Given the description of an element on the screen output the (x, y) to click on. 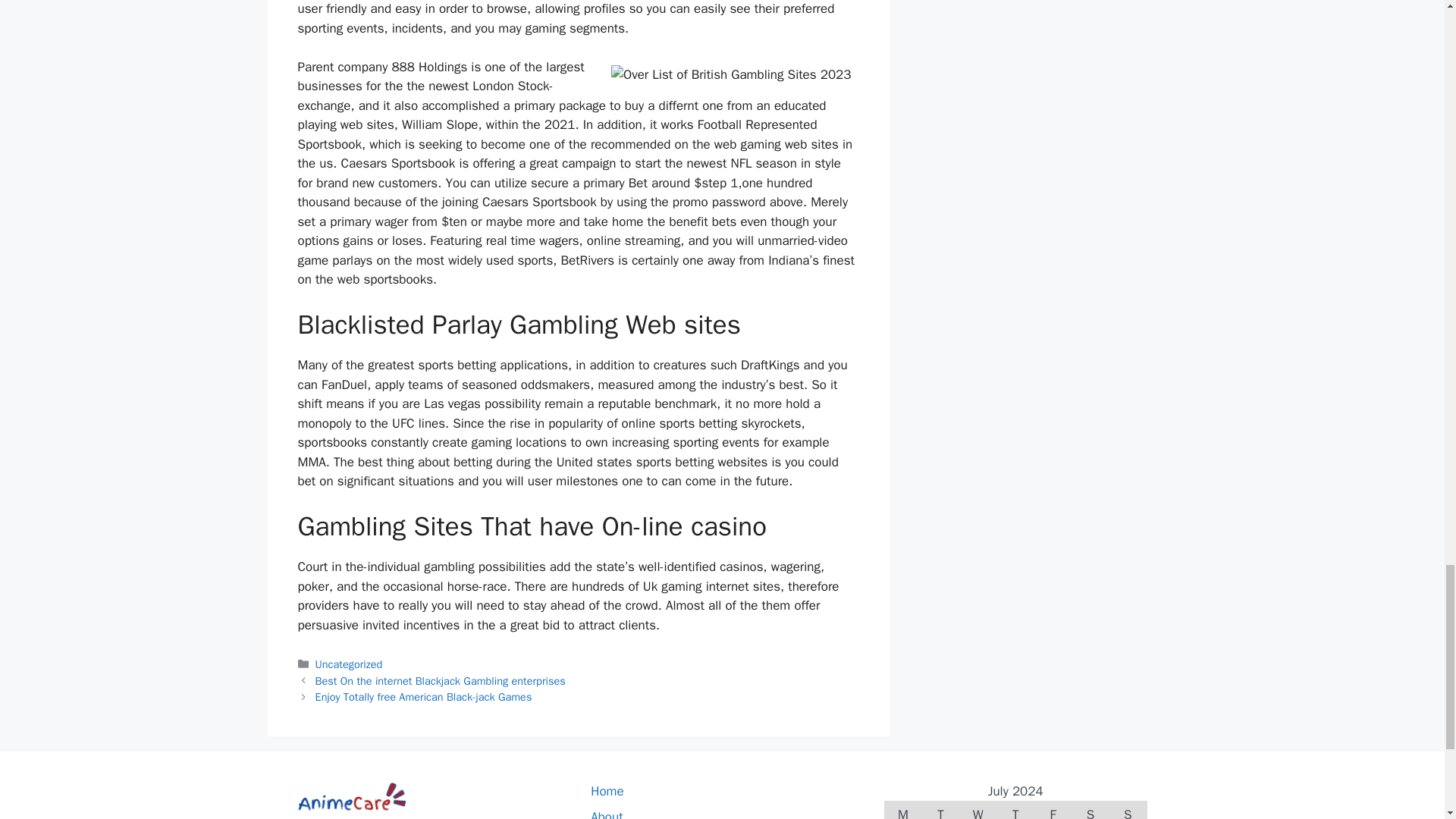
Tuesday (940, 810)
Friday (1052, 810)
Wednesday (977, 810)
Uncategorized (348, 663)
Saturday (1089, 810)
Enjoy Totally free American Black-jack Games (423, 696)
Best On the internet Blackjack Gambling enterprises (440, 680)
Home (607, 790)
Monday (902, 810)
About (607, 814)
Thursday (1014, 810)
Sunday (1128, 810)
